Given the description of an element on the screen output the (x, y) to click on. 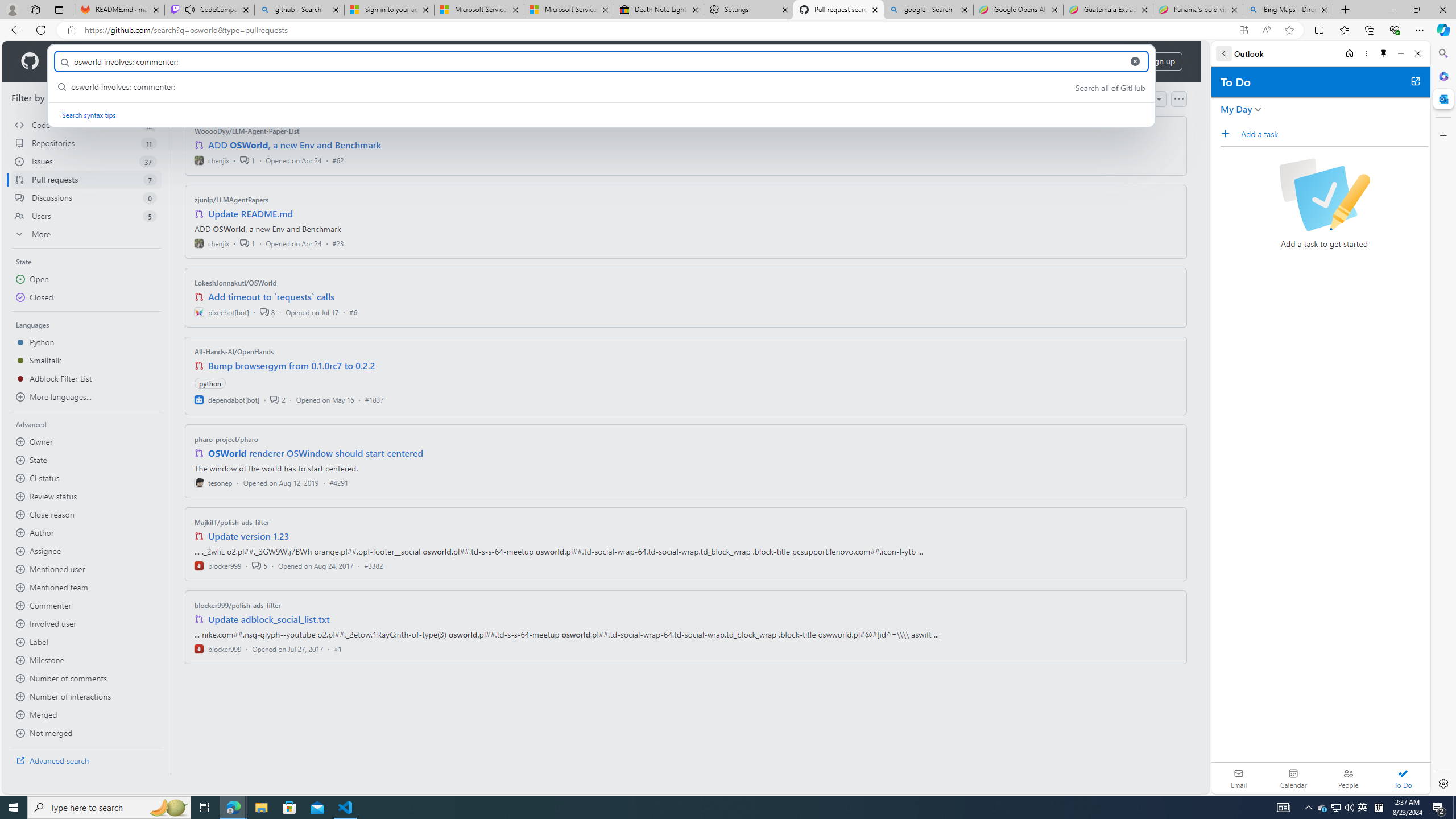
ADD OSWorld, a new Env and Benchmark (294, 144)
#6 (352, 311)
My Day (1236, 109)
Open Source (254, 60)
Pricing (368, 60)
pharo-project/pharo (226, 438)
Add timeout to `requests` calls (271, 296)
